Given the description of an element on the screen output the (x, y) to click on. 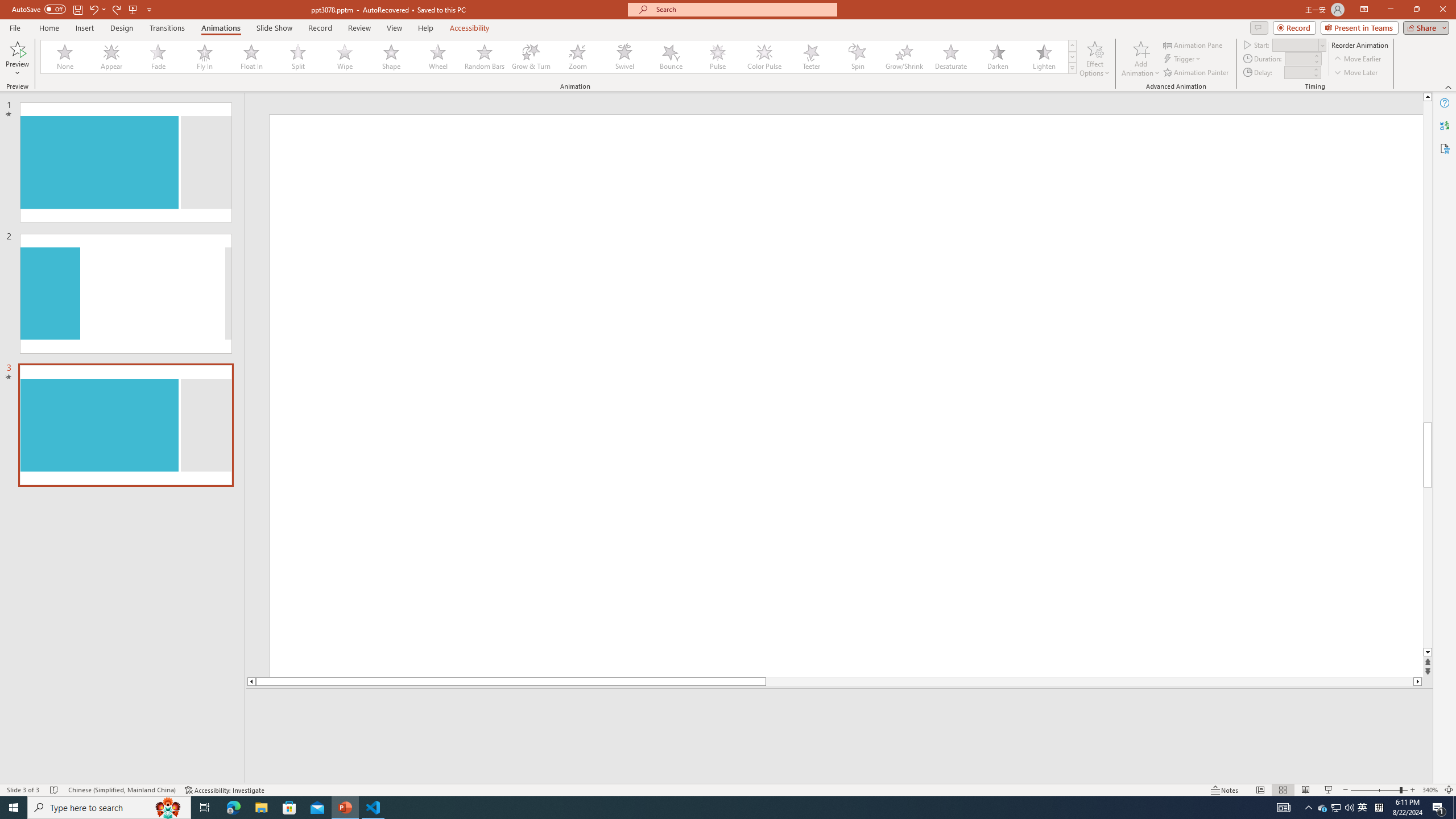
Move Earlier (1357, 58)
Fade (158, 56)
Move Later (1355, 72)
Color Pulse (764, 56)
Float In (251, 56)
